Given the description of an element on the screen output the (x, y) to click on. 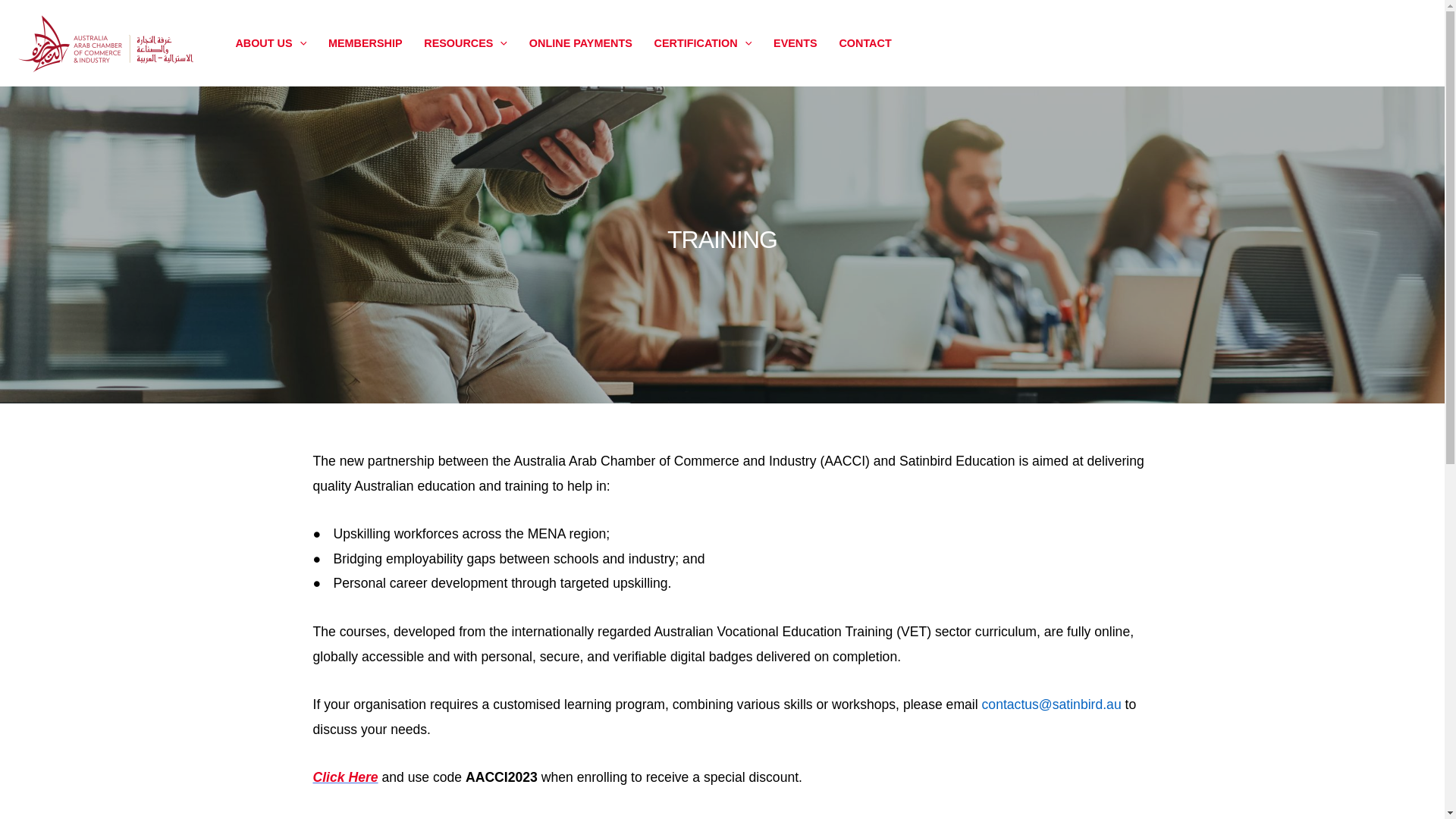
MEMBERSHIP (365, 42)
EVENTS (795, 42)
CONTACT (865, 42)
ABOUT US (270, 42)
RESOURCES (465, 42)
ONLINE PAYMENTS (580, 42)
CERTIFICATION (702, 42)
